Given the description of an element on the screen output the (x, y) to click on. 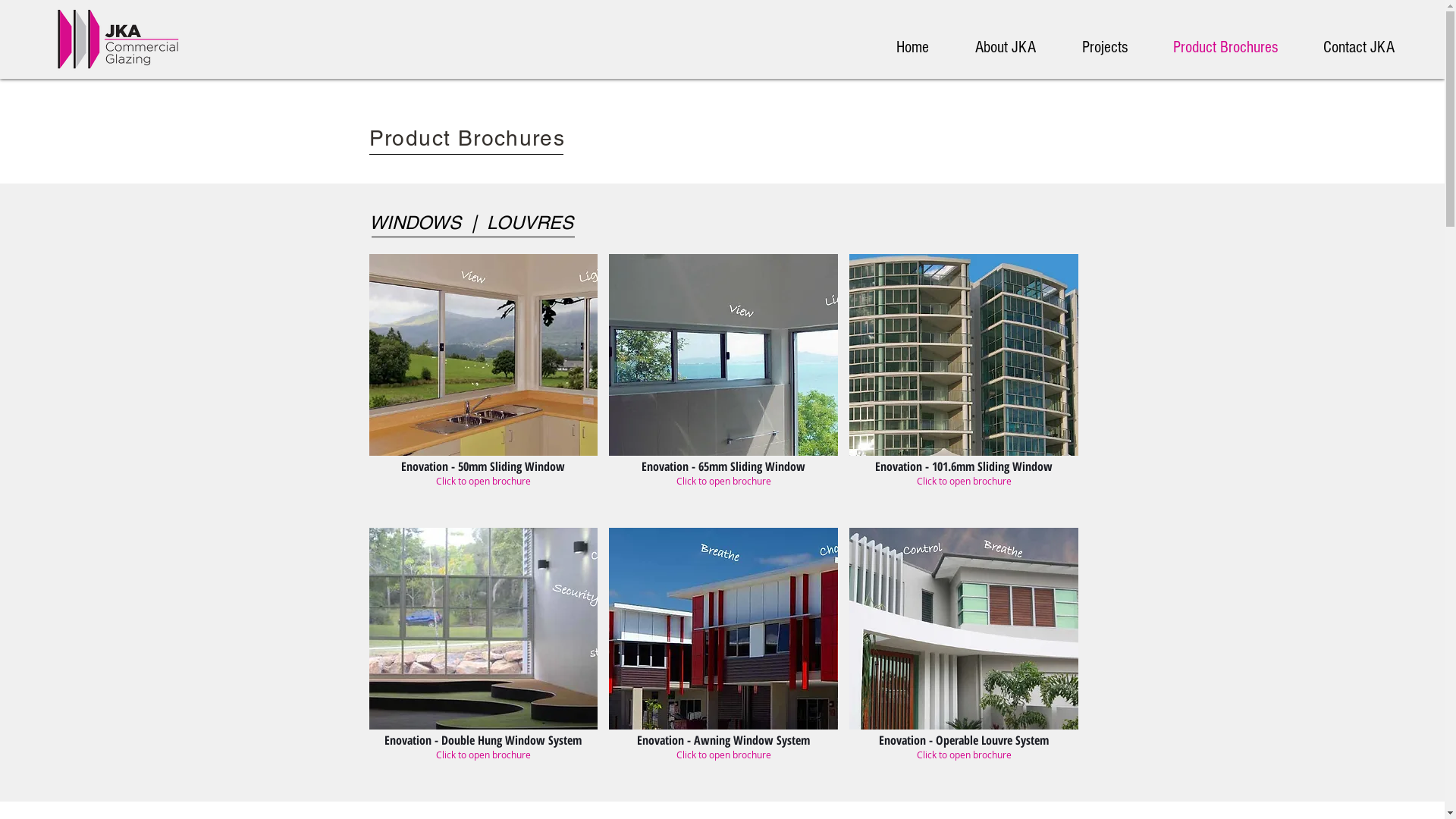
About JKA Element type: text (1019, 47)
Enovation - Operable Louvre System
Click to open brochure Element type: text (963, 658)
Enovation - Double Hung Window System
Click to open brochure Element type: text (482, 658)
Product Brochures Element type: text (1238, 47)
Contact JKA Element type: text (1372, 47)
Enovation - 50mm Sliding Window
Click to open brochure Element type: text (482, 385)
Enovation - 101.6mm Sliding Window
Click to open brochure Element type: text (963, 385)
Enovation - Awning Window System
Click to open brochure Element type: text (722, 658)
Home Element type: text (926, 47)
Enovation - 65mm Sliding Window
Click to open brochure Element type: text (722, 385)
